Given the description of an element on the screen output the (x, y) to click on. 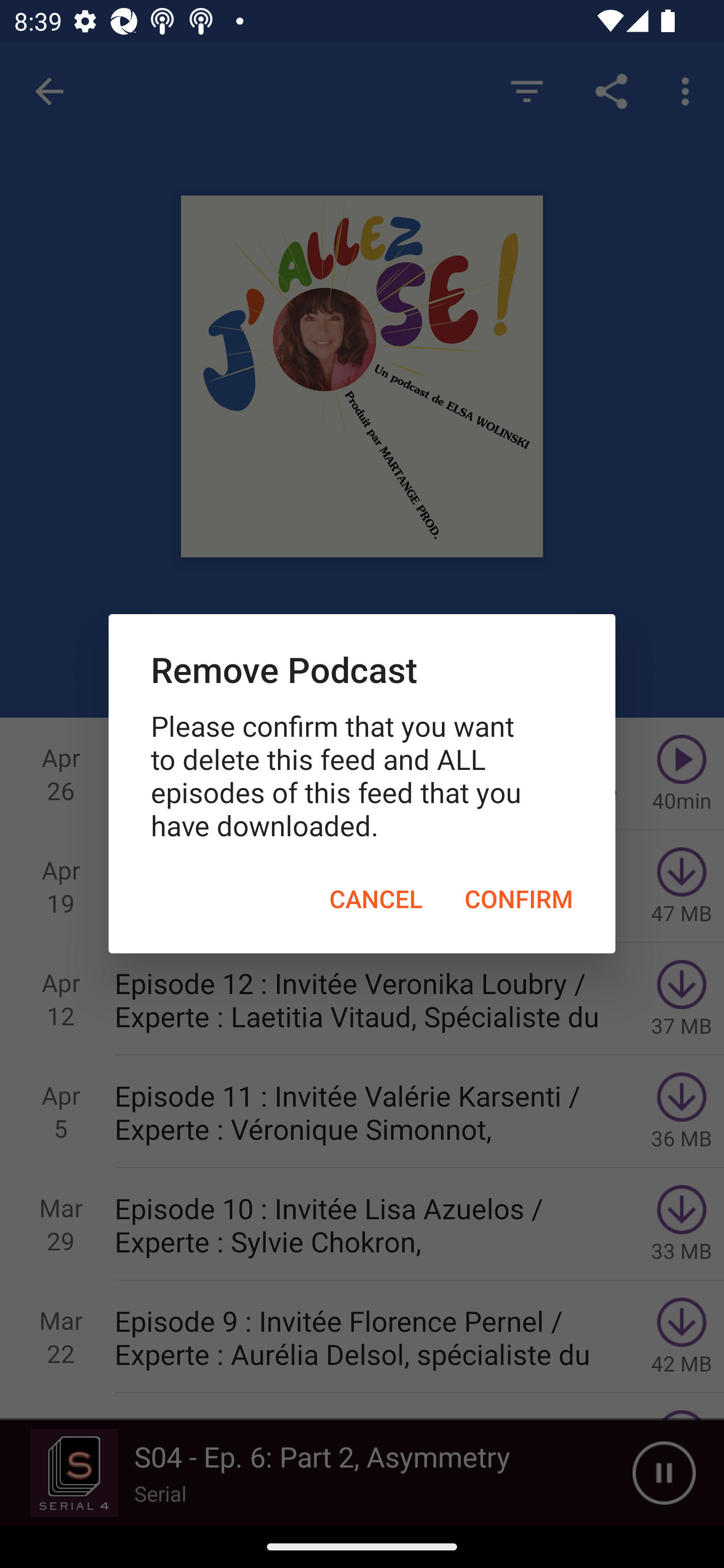
CANCEL (375, 899)
CONFIRM (518, 899)
